Given the description of an element on the screen output the (x, y) to click on. 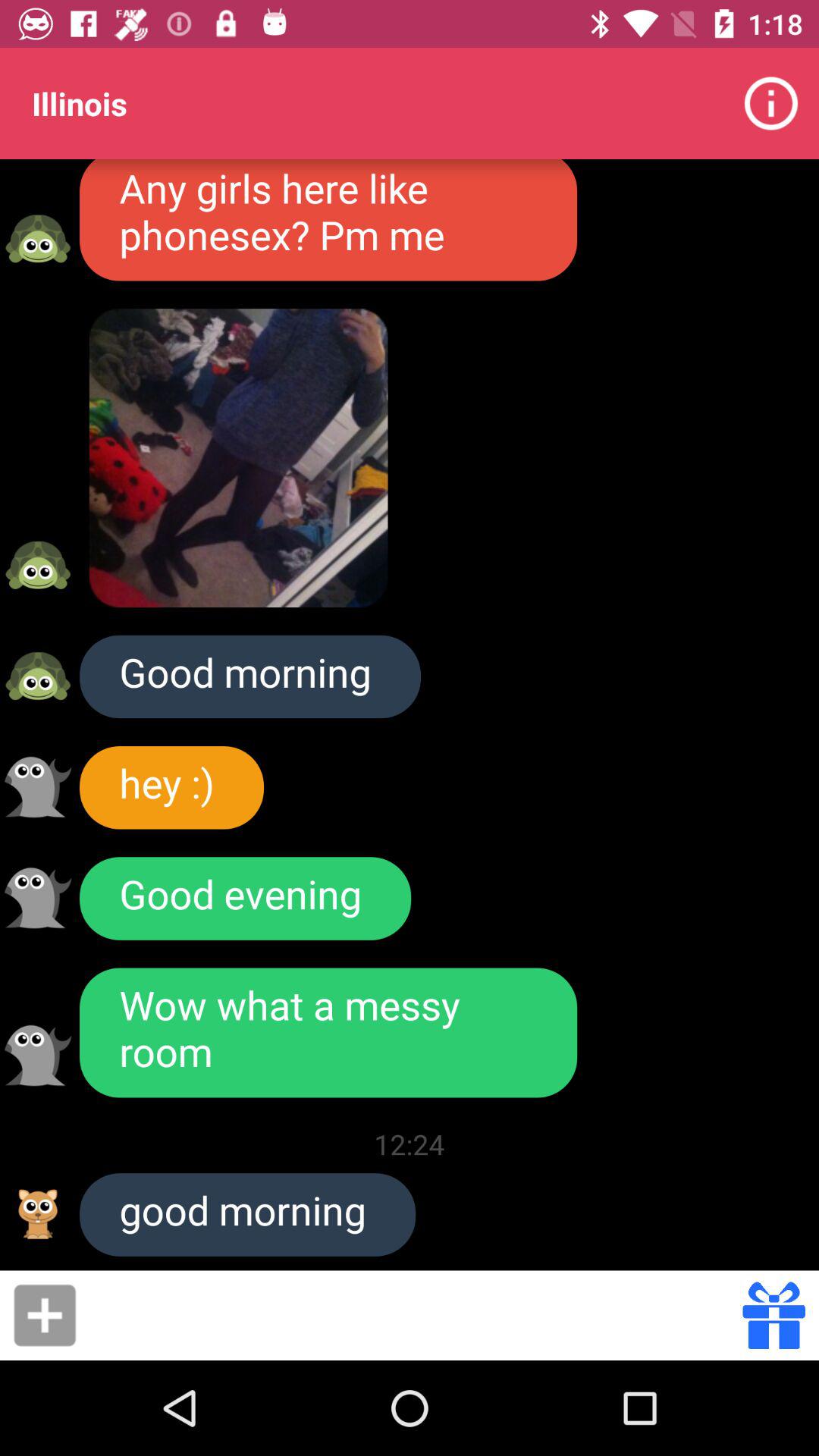
turn off icon to the right of the any girls here icon (771, 103)
